Given the description of an element on the screen output the (x, y) to click on. 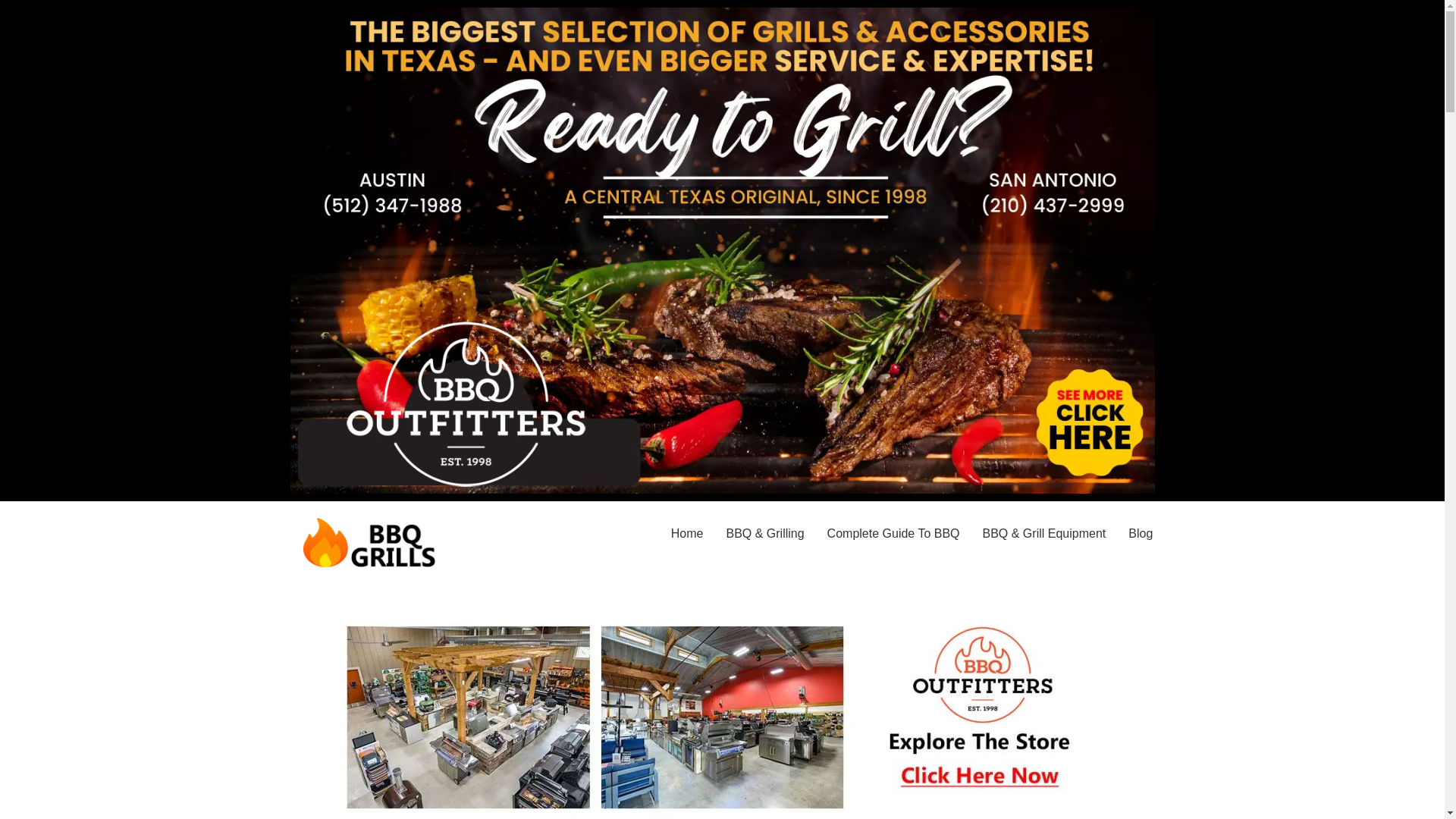
Home (686, 533)
Complete Guide To BBQ (893, 533)
Blog (1139, 533)
